Given the description of an element on the screen output the (x, y) to click on. 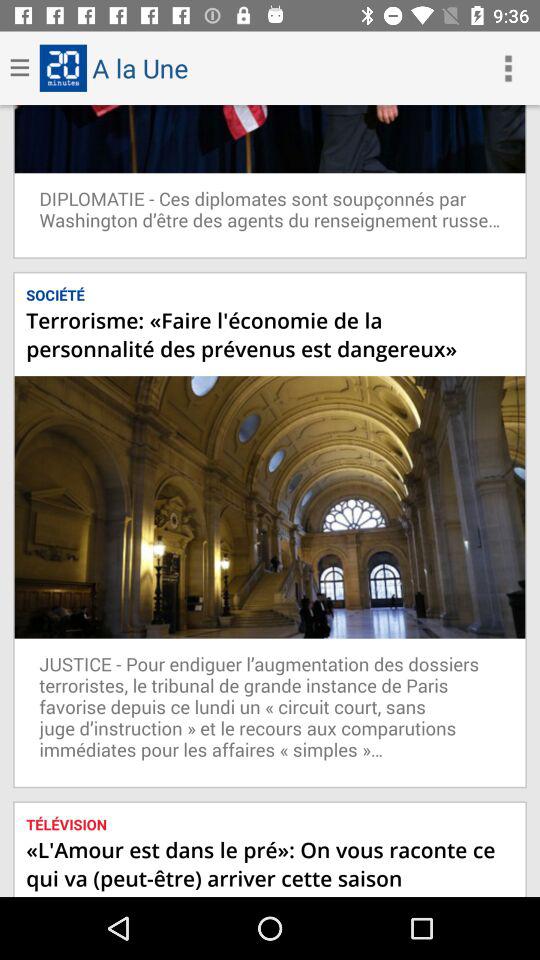
choose the item to the right of a la une icon (508, 67)
